Given the description of an element on the screen output the (x, y) to click on. 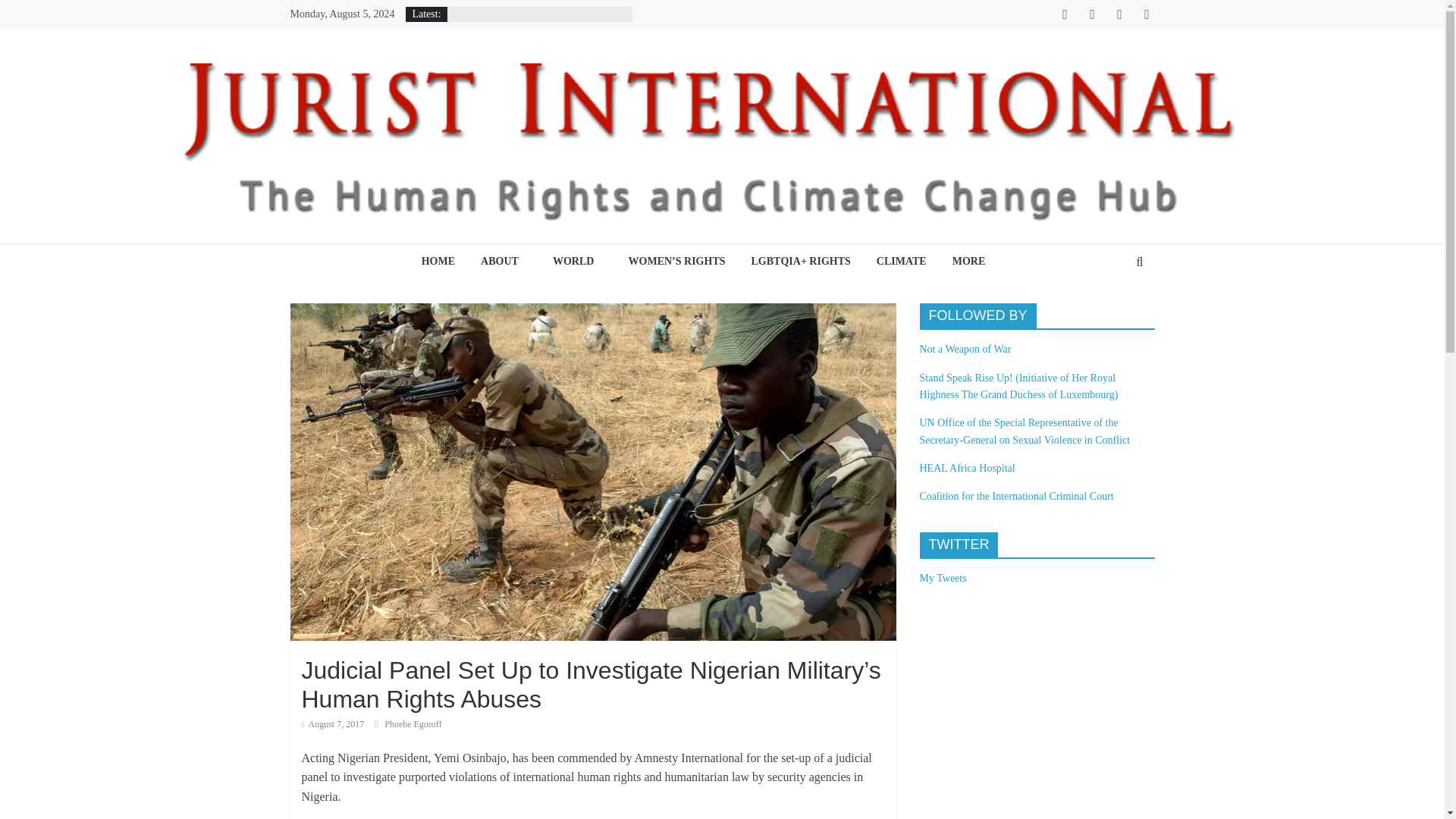
3:36 am (333, 724)
CLIMATE (901, 262)
Phoebe Egoroff (412, 724)
HOME (438, 262)
ABOUT (503, 262)
August 7, 2017 (333, 724)
Phoebe Egoroff (412, 724)
MORE (973, 262)
WORLD (577, 262)
